Given the description of an element on the screen output the (x, y) to click on. 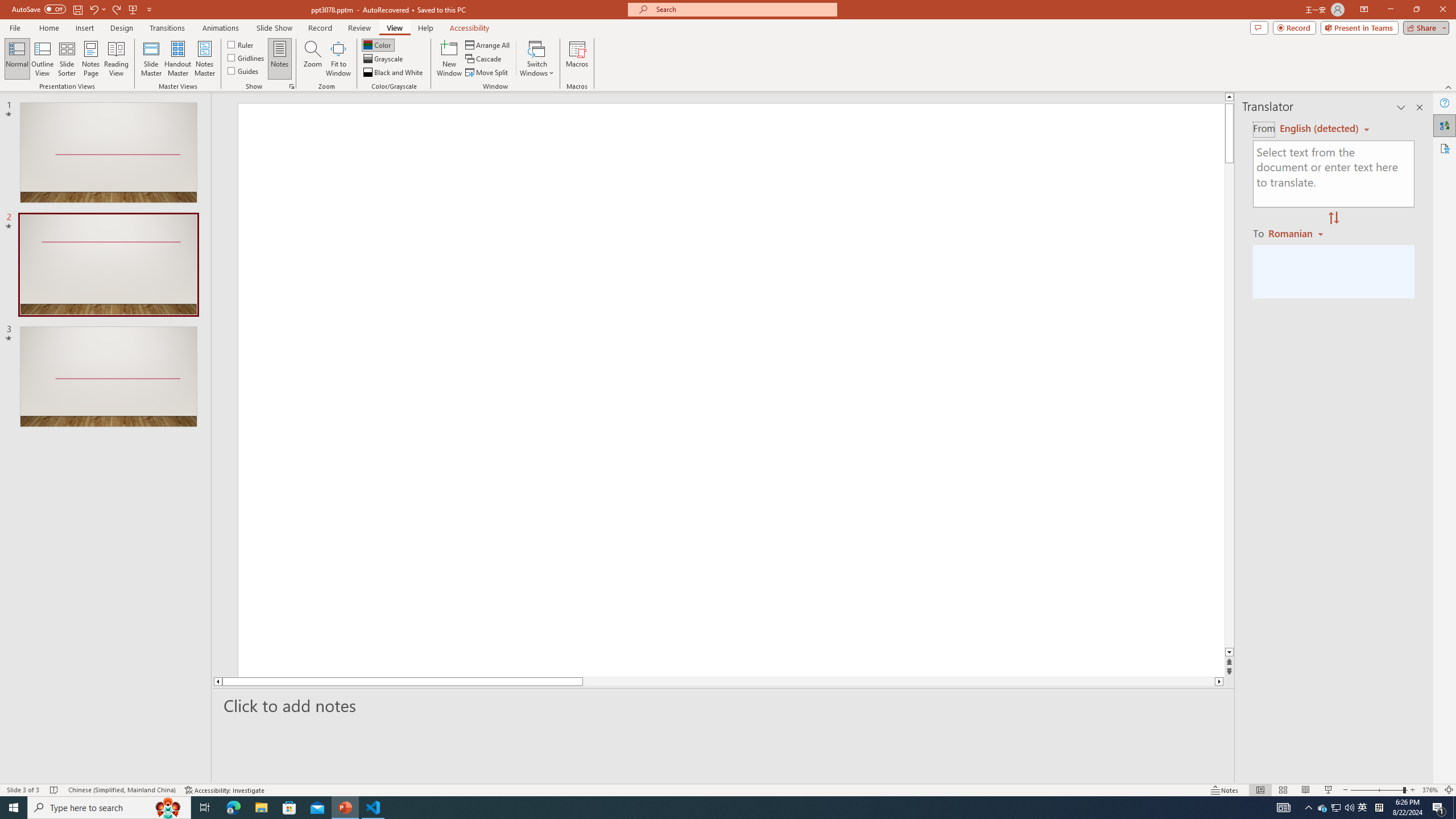
Color (377, 44)
Zoom 376% (1430, 790)
Slide Master (151, 58)
